Given the description of an element on the screen output the (x, y) to click on. 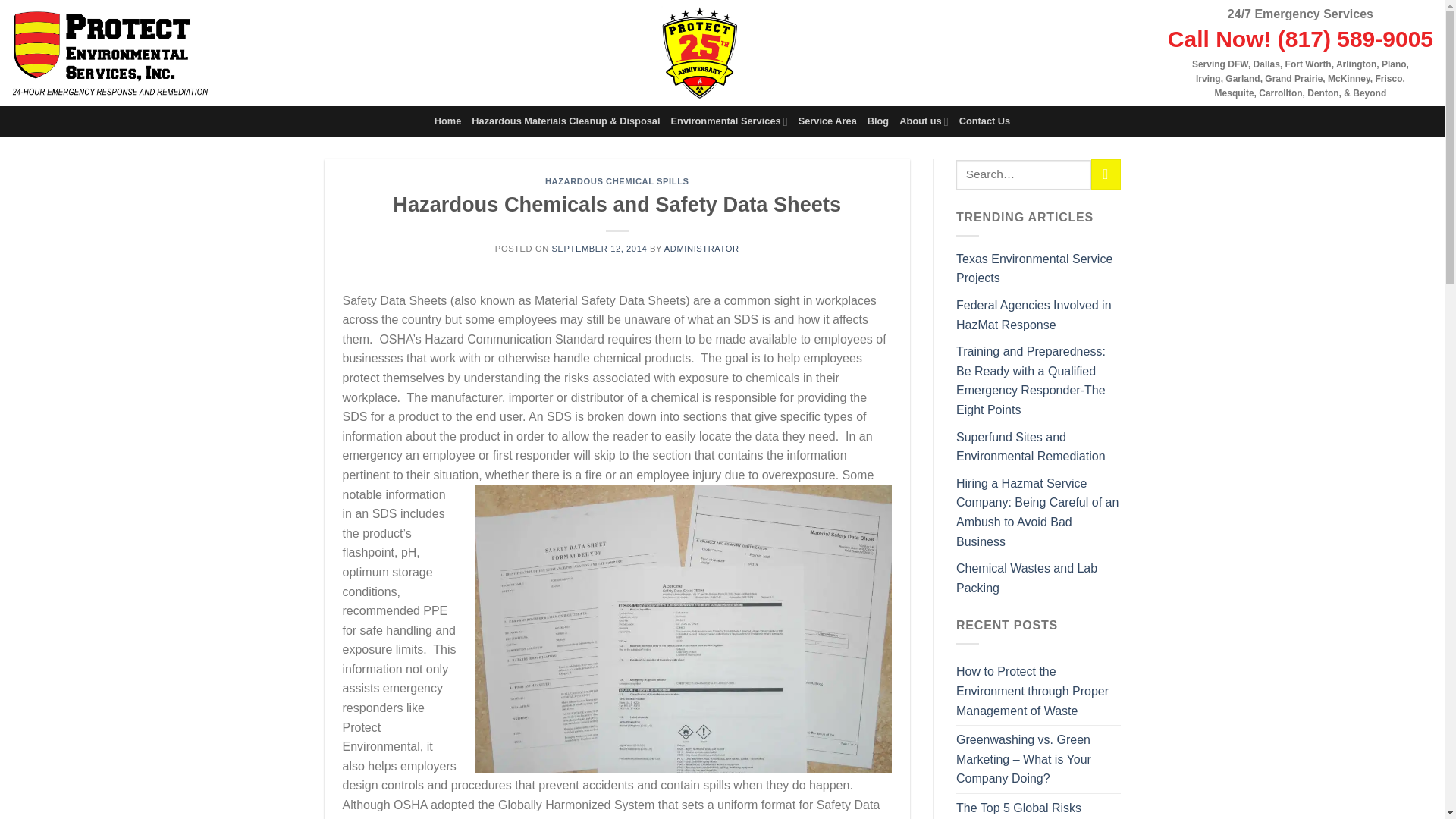
Environmental Services (729, 121)
ADMINISTRATOR (701, 248)
SEPTEMBER 12, 2014 (598, 248)
Service Area (827, 121)
Protect Environmental (109, 52)
Blog (877, 121)
Contact Us (984, 121)
Federal Agencies Involved in HazMat Response (1034, 314)
About us (923, 121)
HAZARDOUS CHEMICAL SPILLS (616, 180)
Texas Environmental Service Projects (1034, 268)
Home (447, 121)
